Given the description of an element on the screen output the (x, y) to click on. 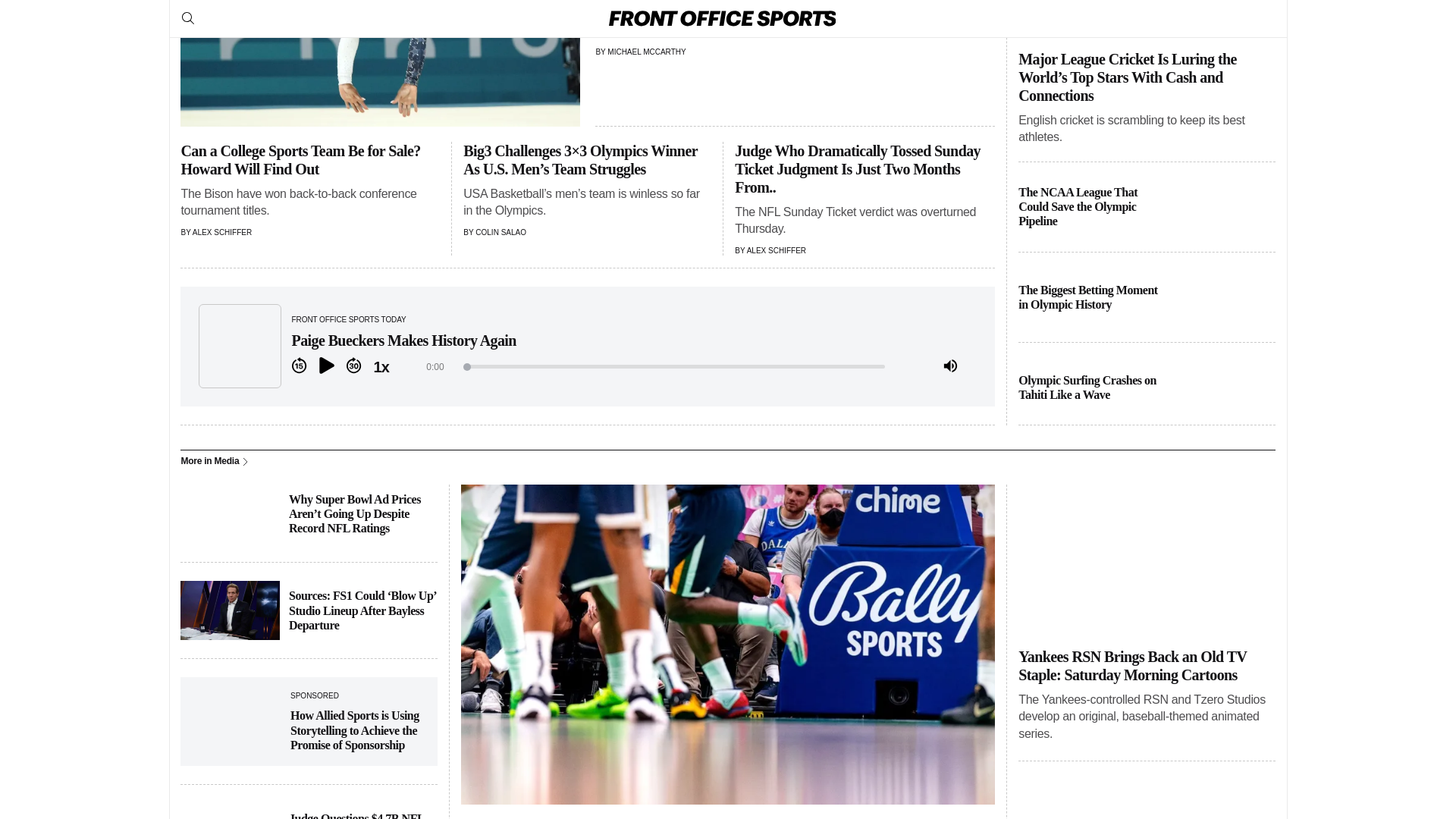
Posts by Alex Schiffer (221, 232)
Posts by Alex Schiffer (776, 250)
Posts by Michael McCarthy (646, 51)
Posts by Colin Salao (500, 232)
